Given the description of an element on the screen output the (x, y) to click on. 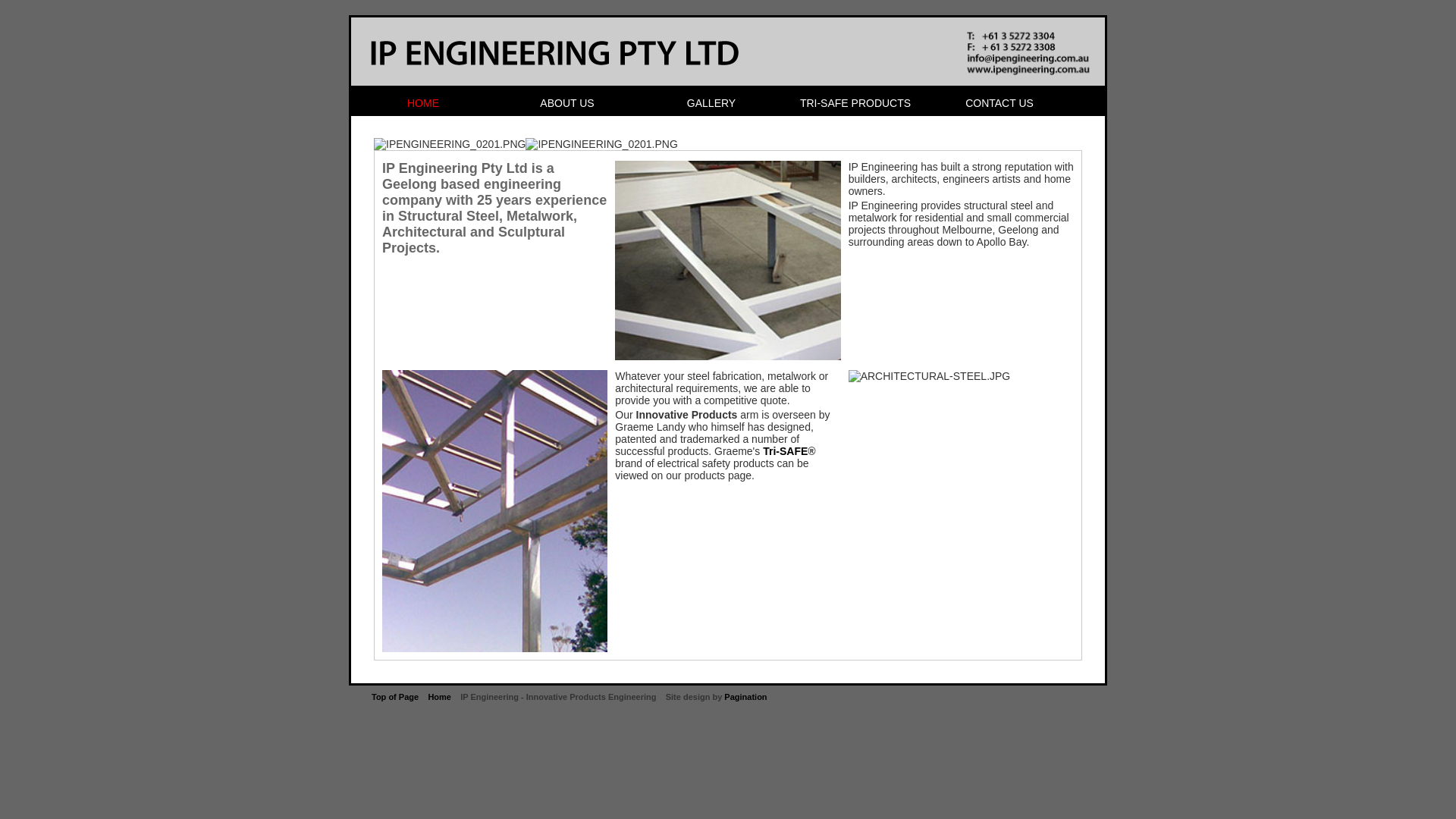
STRUCTURAL-STEEL-3.JPG Element type: hover (727, 260)
IPENGINEERING_0201.PNG Element type: hover (449, 144)
Pagination Element type: text (743, 696)
Home Element type: text (439, 696)
Top of Page Element type: text (394, 696)
Tri-SAFE Element type: text (784, 451)
STRUCTURAL-STEEL.JPG Element type: hover (494, 511)
ARCHITECTURAL-STEEL.JPG Element type: hover (929, 376)
IPENGINEERING_0201.PNG Element type: hover (601, 144)
